Given the description of an element on the screen output the (x, y) to click on. 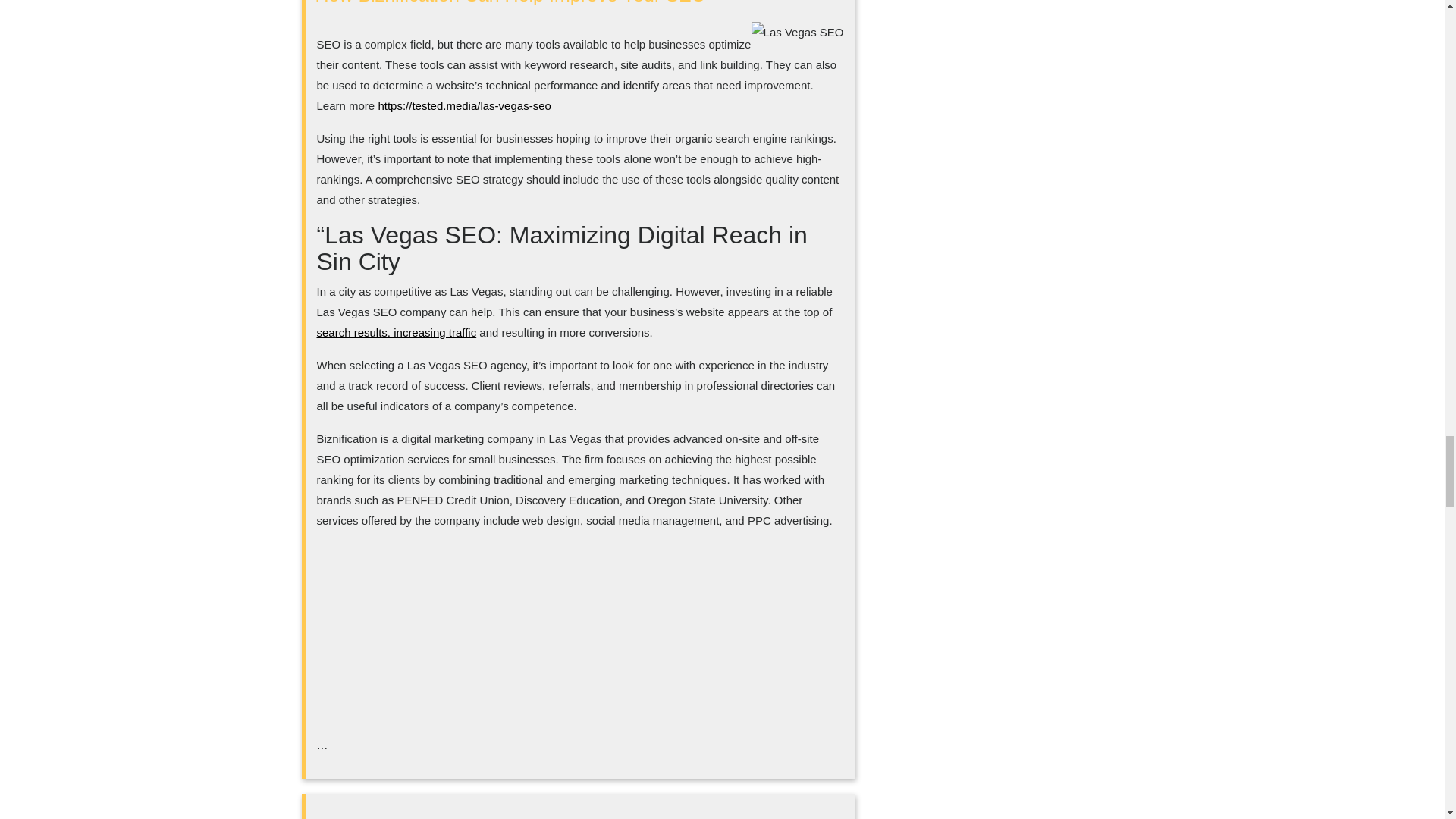
What Are Delta 9 Gummies? (435, 817)
How Biznification Can Help Improve Your SEO (510, 2)
search results, increasing traffic (397, 332)
